Given the description of an element on the screen output the (x, y) to click on. 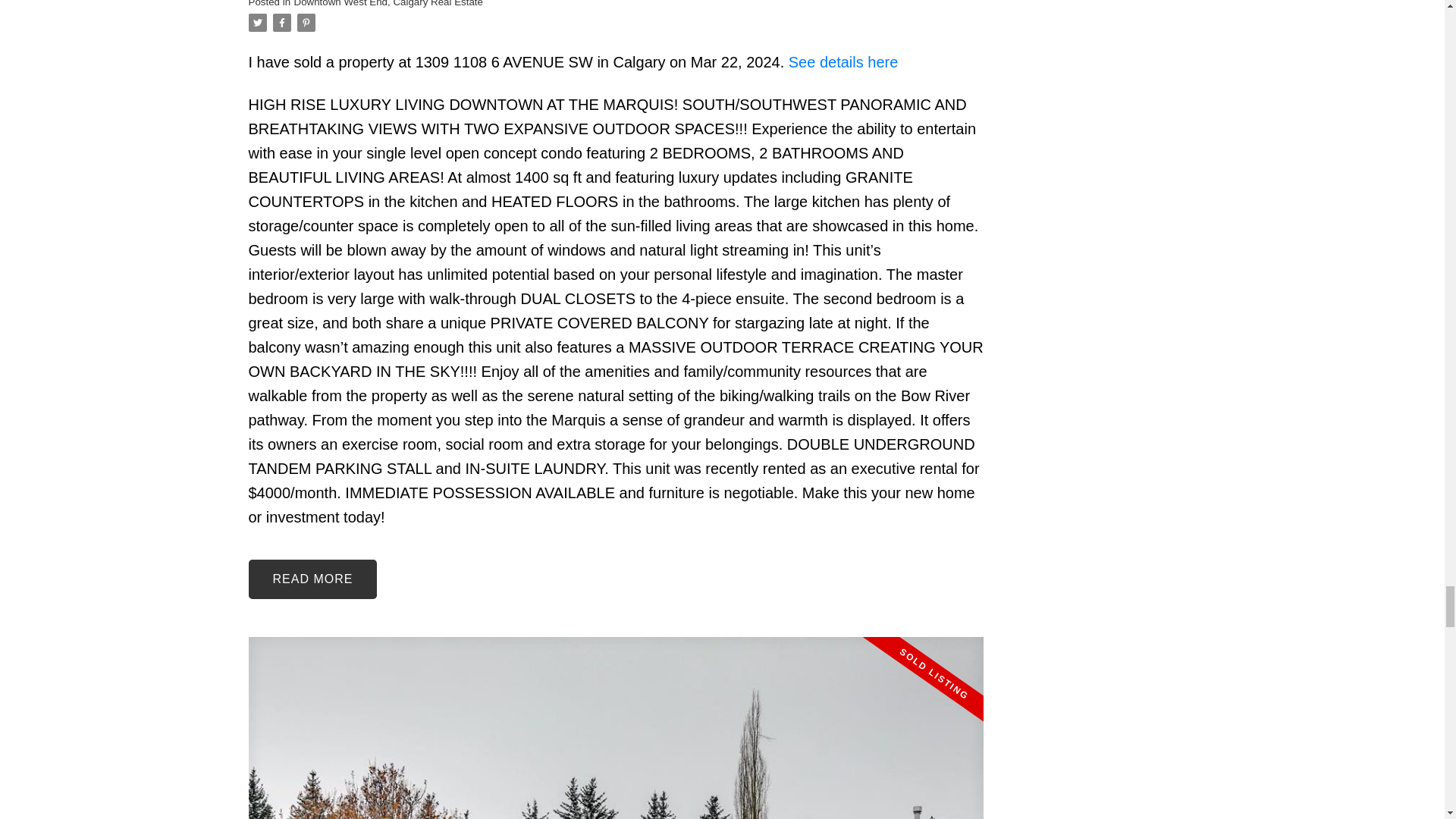
Read full post (616, 728)
